Given the description of an element on the screen output the (x, y) to click on. 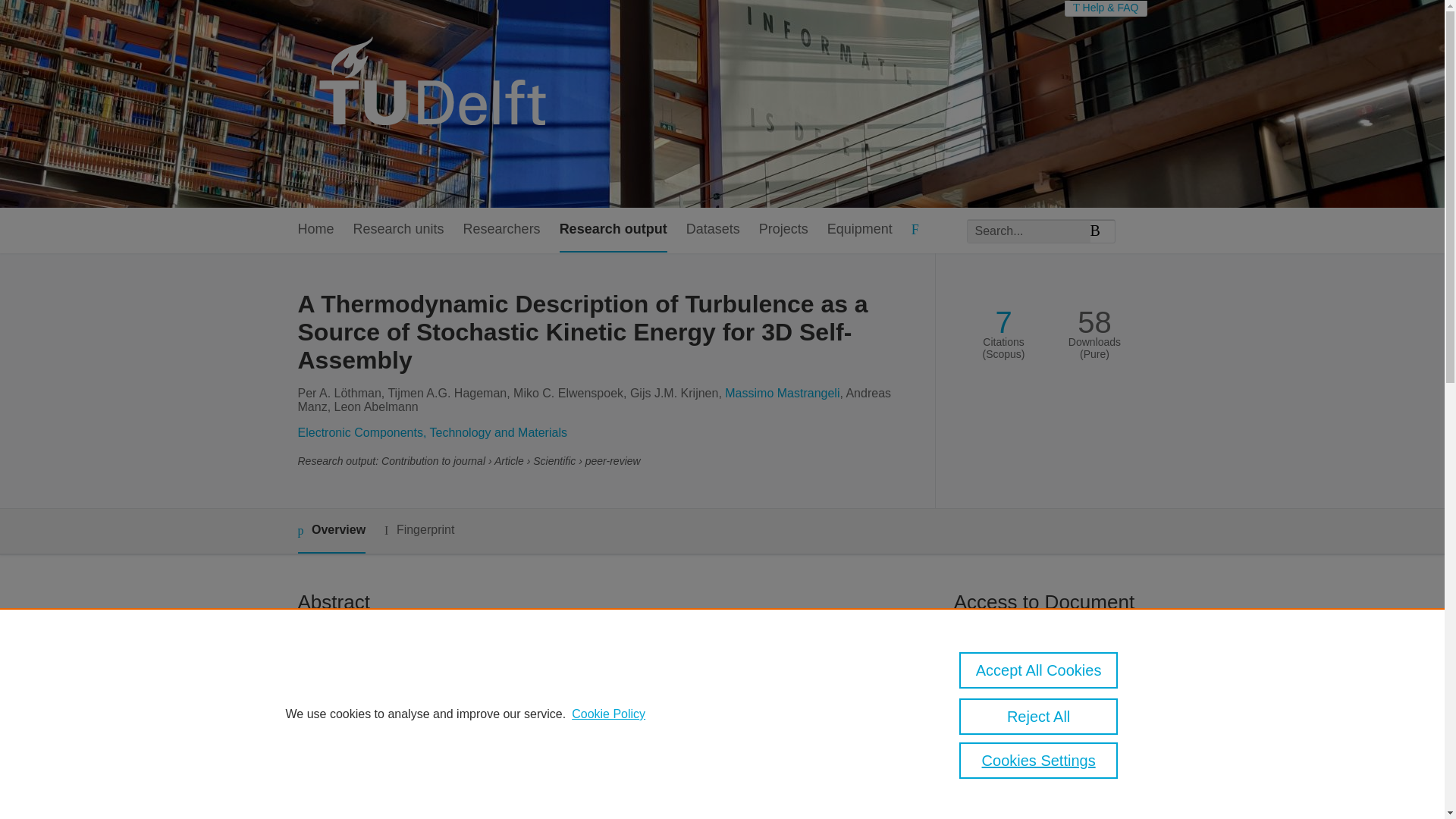
Equipment (859, 230)
admi.201900963 (1011, 656)
Research units (398, 230)
Link to publication in Scopus (1045, 730)
Research output (612, 230)
Overview (331, 530)
Projects (783, 230)
Electronic Components, Technology and Materials (431, 431)
Fingerprint (419, 530)
Massimo Mastrangeli (782, 392)
Datasets (712, 230)
Researchers (501, 230)
TU Delft Research Portal Home (438, 103)
